Given the description of an element on the screen output the (x, y) to click on. 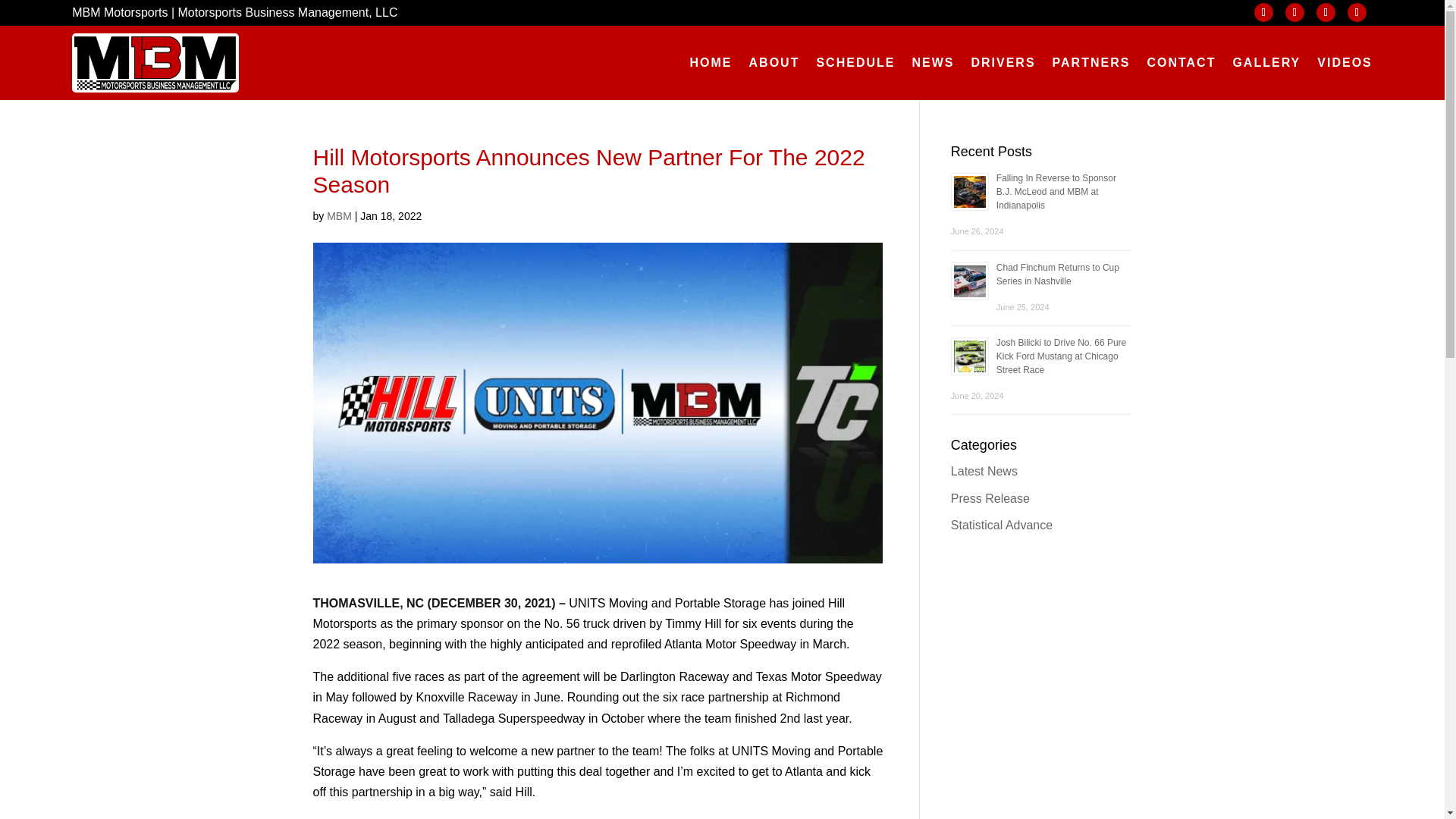
Follow on Twitter (1294, 12)
Posts by MBM (339, 215)
MBM (339, 215)
SCHEDULE (855, 62)
Follow on LinkedIn (1357, 12)
Press Release (989, 498)
Follow on Facebook (1262, 12)
VIDEOS (1344, 62)
Follow on Instagram (1325, 12)
Statistical Advance (1001, 524)
Latest News (983, 471)
DRIVERS (1003, 62)
GALLERY (1265, 62)
